Given the description of an element on the screen output the (x, y) to click on. 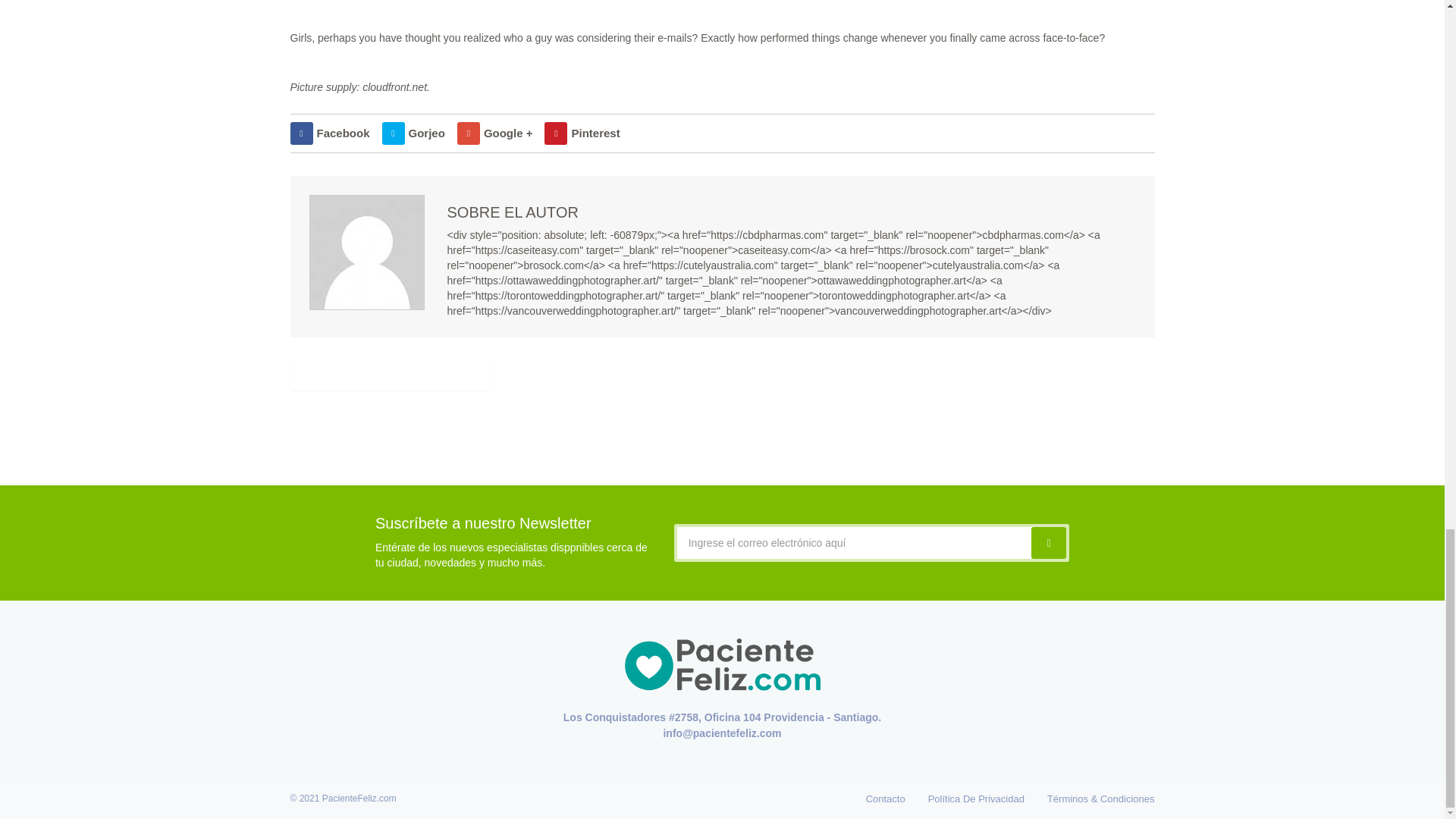
Gorjeo (413, 133)
Pinterest (582, 133)
Facebook (329, 133)
Contacto (885, 798)
